Given the description of an element on the screen output the (x, y) to click on. 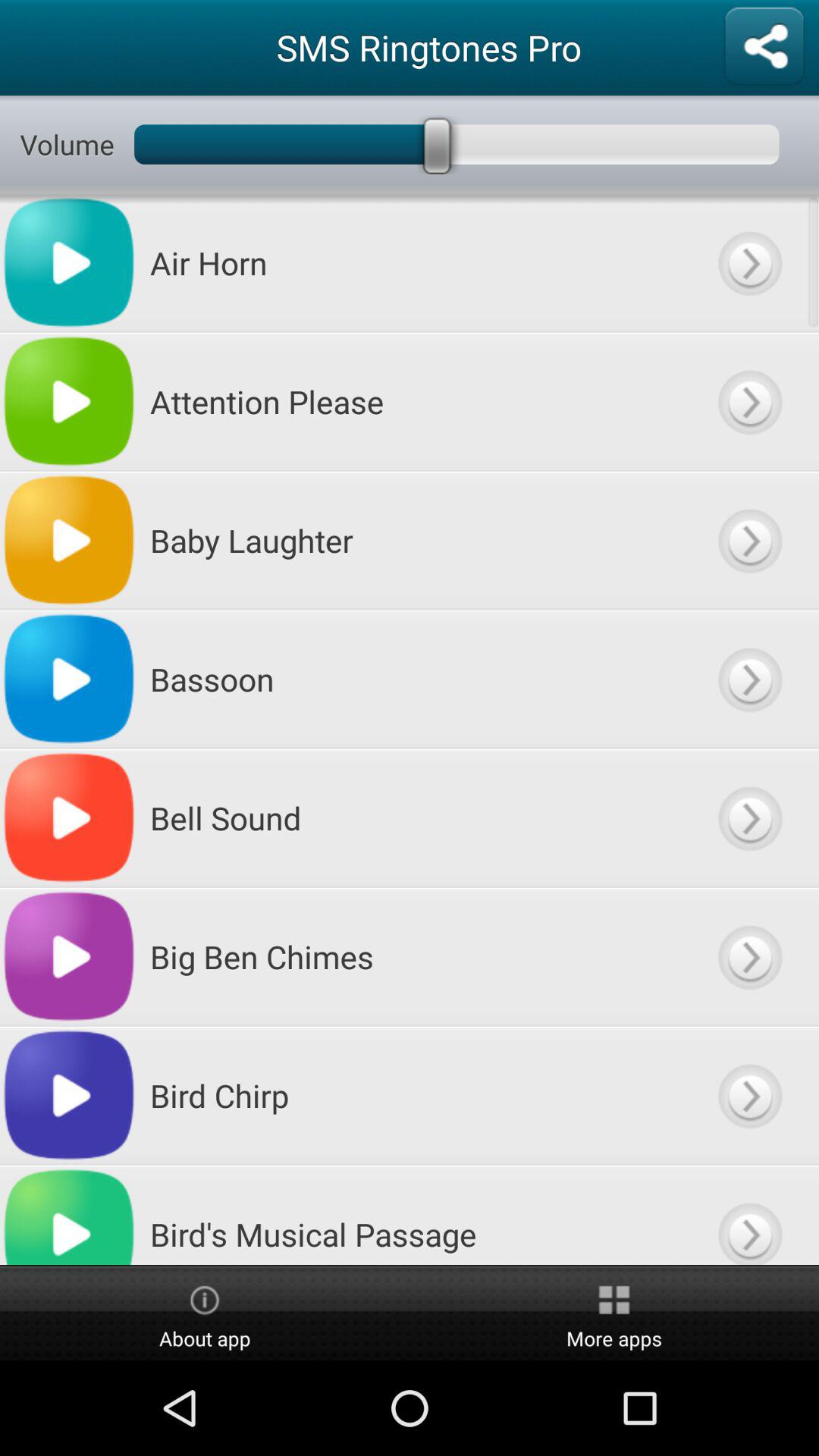
see more options about this ringtone (749, 1095)
